Given the description of an element on the screen output the (x, y) to click on. 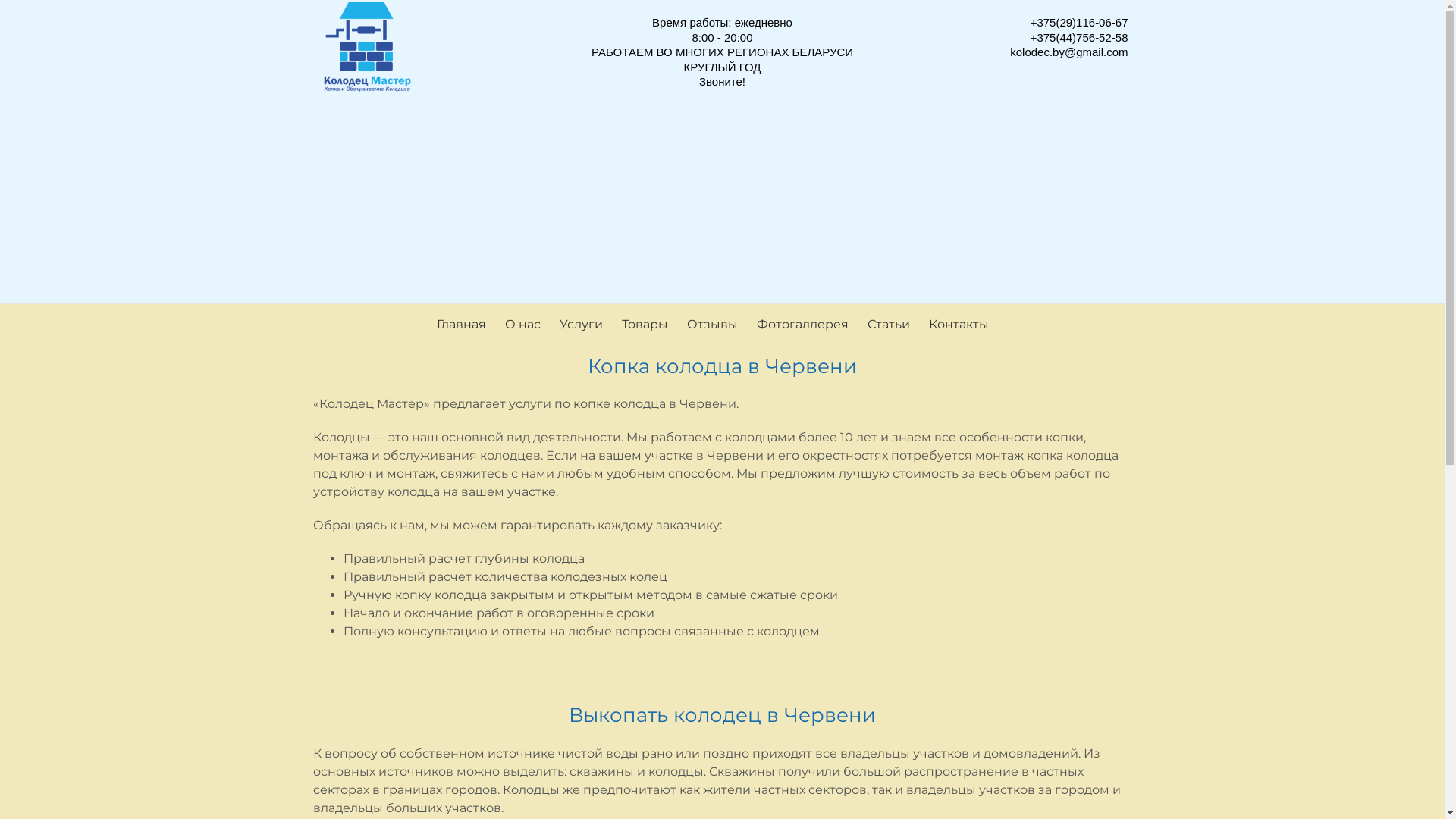
+375(44)756-52-58 Element type: text (1079, 36)
+375(29)116-06-67 Element type: text (1079, 21)
kolodec.by@gmail.com Element type: text (1068, 51)
